Given the description of an element on the screen output the (x, y) to click on. 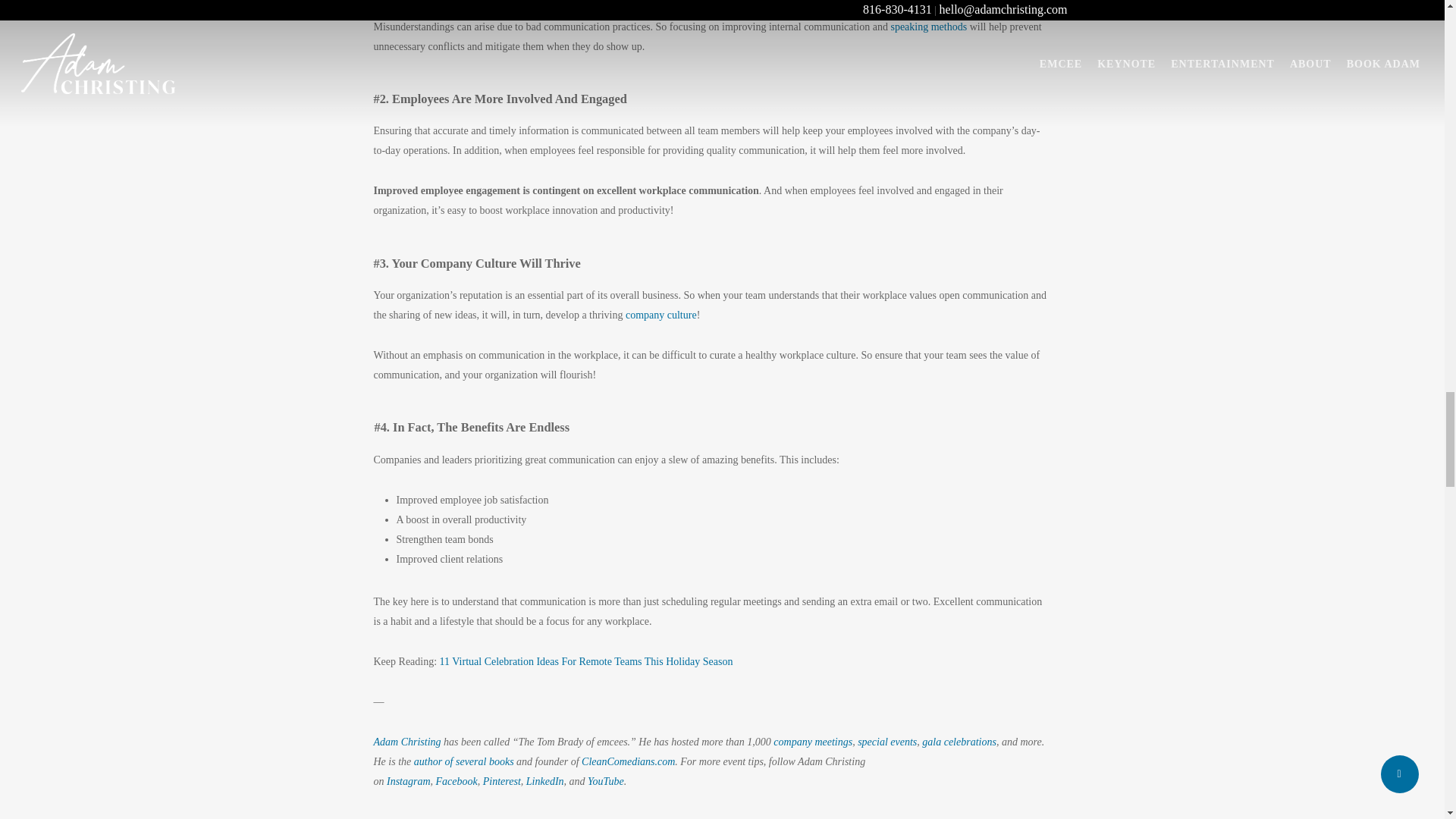
company culture (661, 315)
CleanComedians.com (627, 761)
Pinterest (502, 781)
gala celebrations (958, 741)
Instagram (408, 781)
company meetings (812, 741)
Adam Christing (406, 741)
speaking methods (927, 26)
Facebook (456, 781)
